Given the description of an element on the screen output the (x, y) to click on. 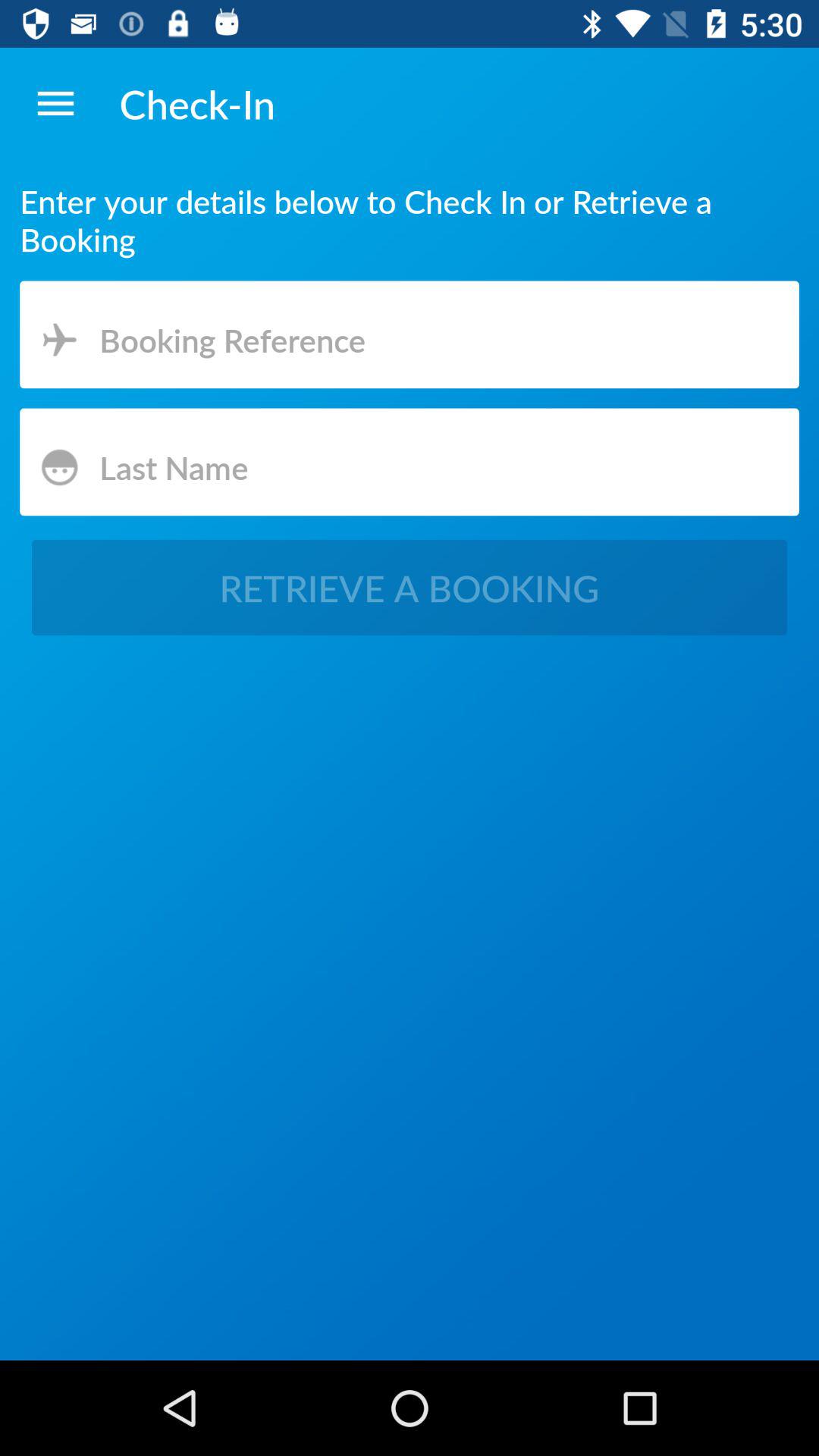
turn off icon above enter your details item (55, 103)
